Given the description of an element on the screen output the (x, y) to click on. 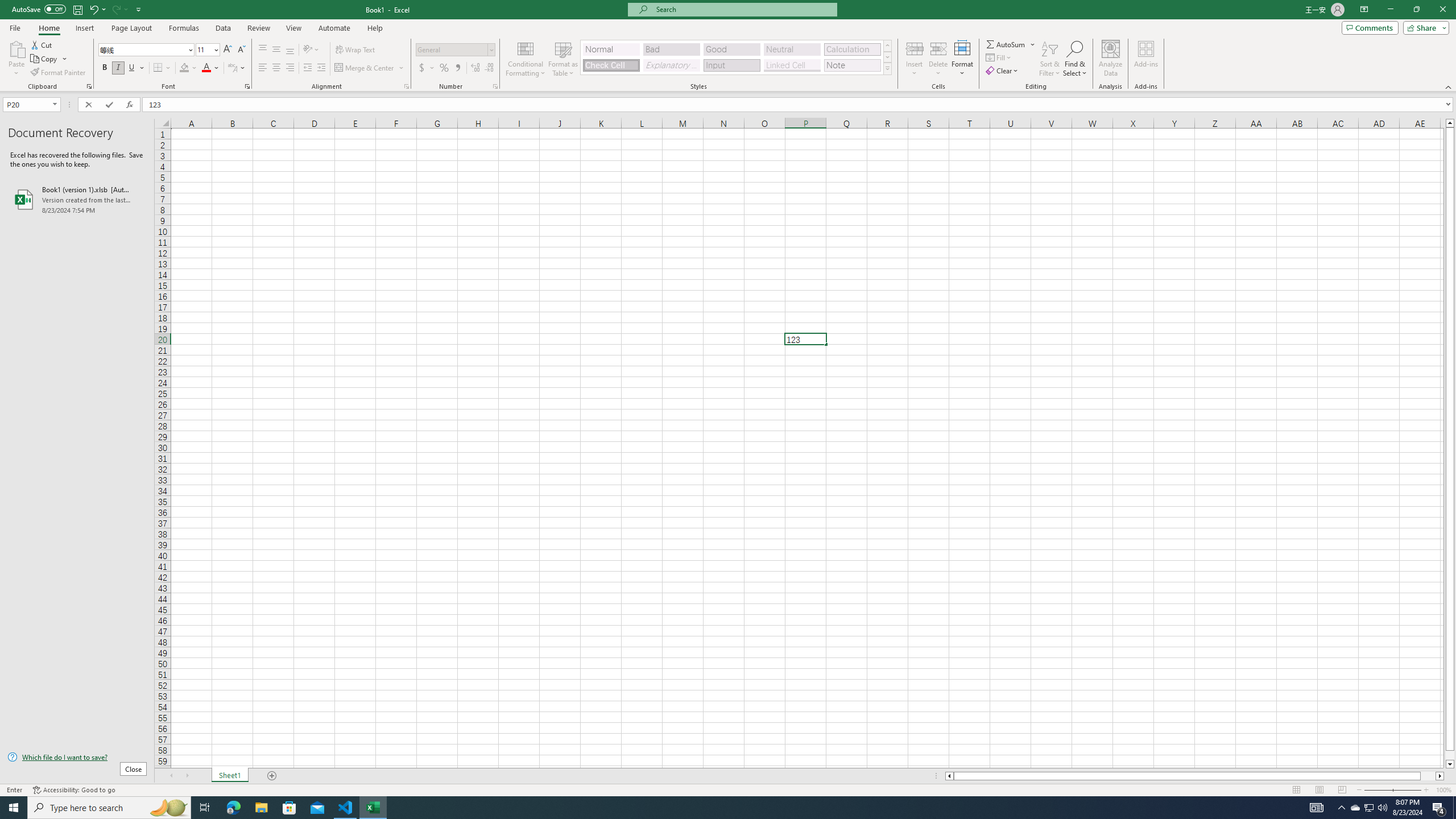
Format Cell Font (247, 85)
Ribbon Display Options (1364, 9)
Fill Color RGB(255, 255, 0) (183, 67)
Font Size (204, 49)
Increase Decimal (474, 67)
Font Color (210, 67)
AutomationID: CellStylesGallery (736, 57)
Center (276, 67)
Linked Cell (791, 65)
Column left (948, 775)
Accounting Number Format (426, 67)
Line down (1449, 764)
Merge & Center (369, 67)
